Given the description of an element on the screen output the (x, y) to click on. 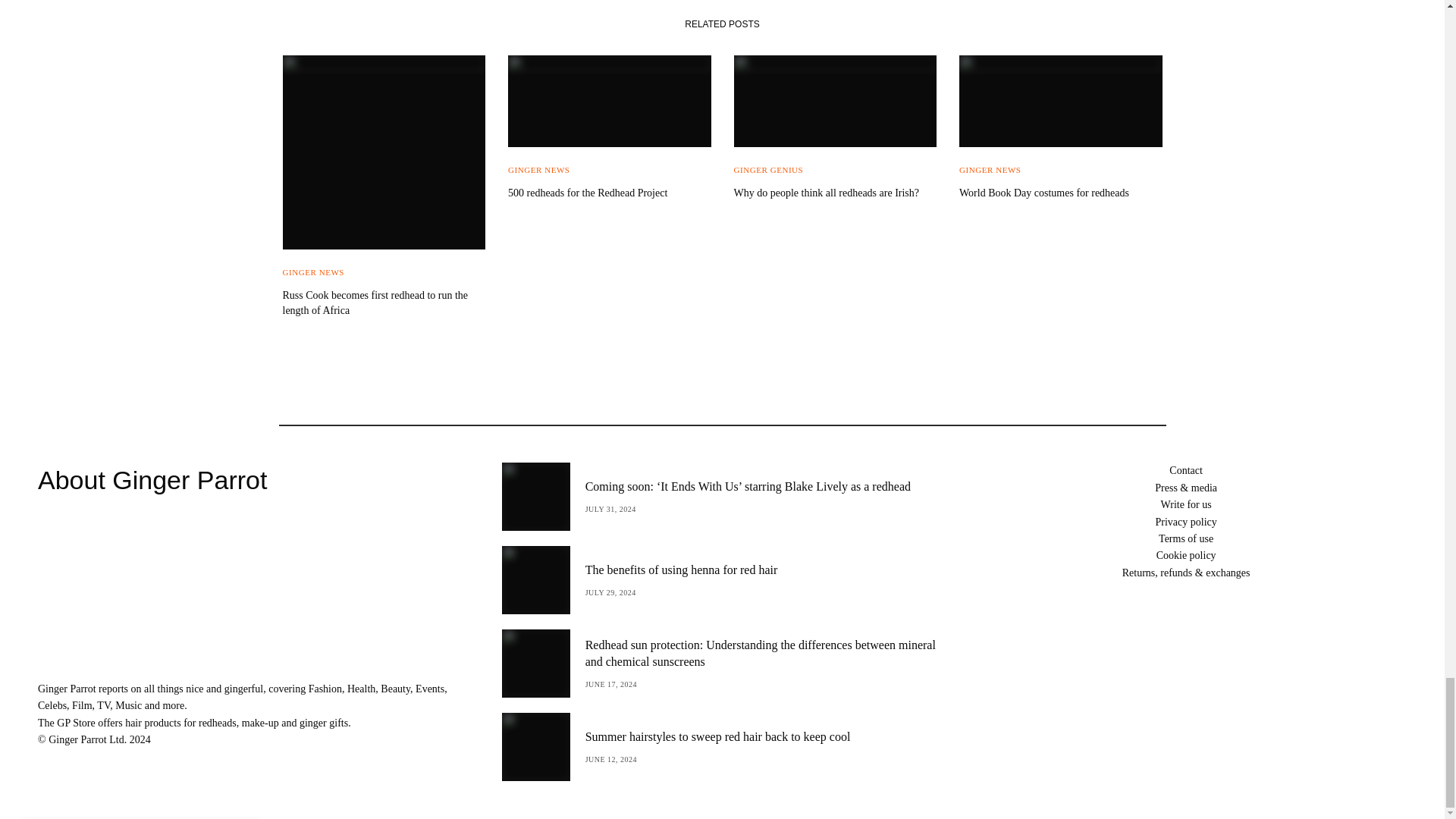
Russ Cook becomes first redhead to run the length of Africa (383, 302)
Why do people think all redheads are Irish? (835, 192)
Summer hairstyles to sweep red hair back to keep cool (717, 736)
500 redheads for the Redhead Project (609, 192)
The benefits of using henna for red hair (681, 569)
World Book Day costumes for redheads (1060, 192)
